Given the description of an element on the screen output the (x, y) to click on. 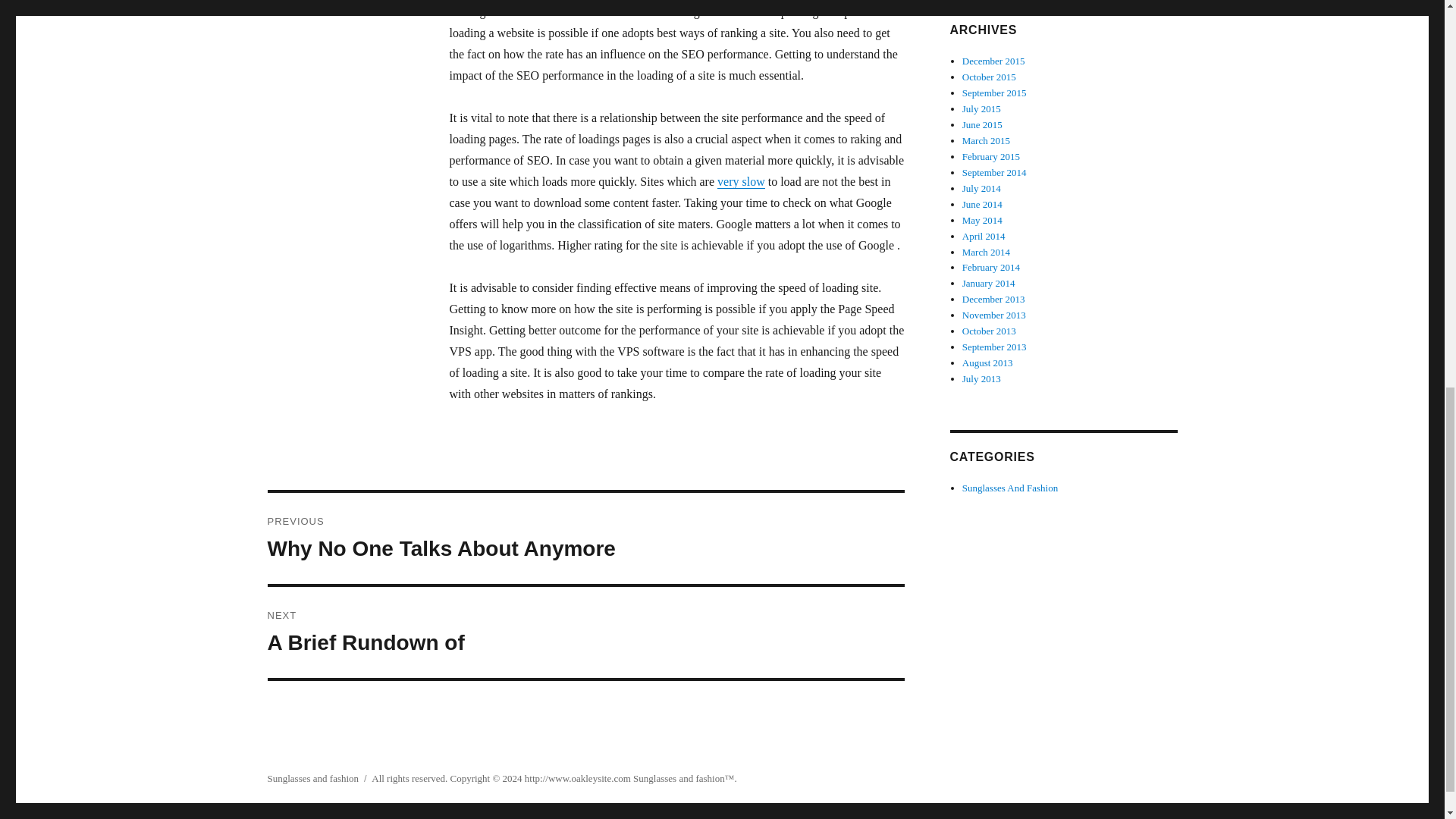
very slow (741, 181)
October 2013 (989, 330)
October 2015 (989, 76)
December 2013 (993, 298)
May 2014 (982, 220)
June 2015 (982, 124)
July 2015 (981, 108)
Sunglasses and fashion (312, 778)
February 2015 (991, 156)
